Given the description of an element on the screen output the (x, y) to click on. 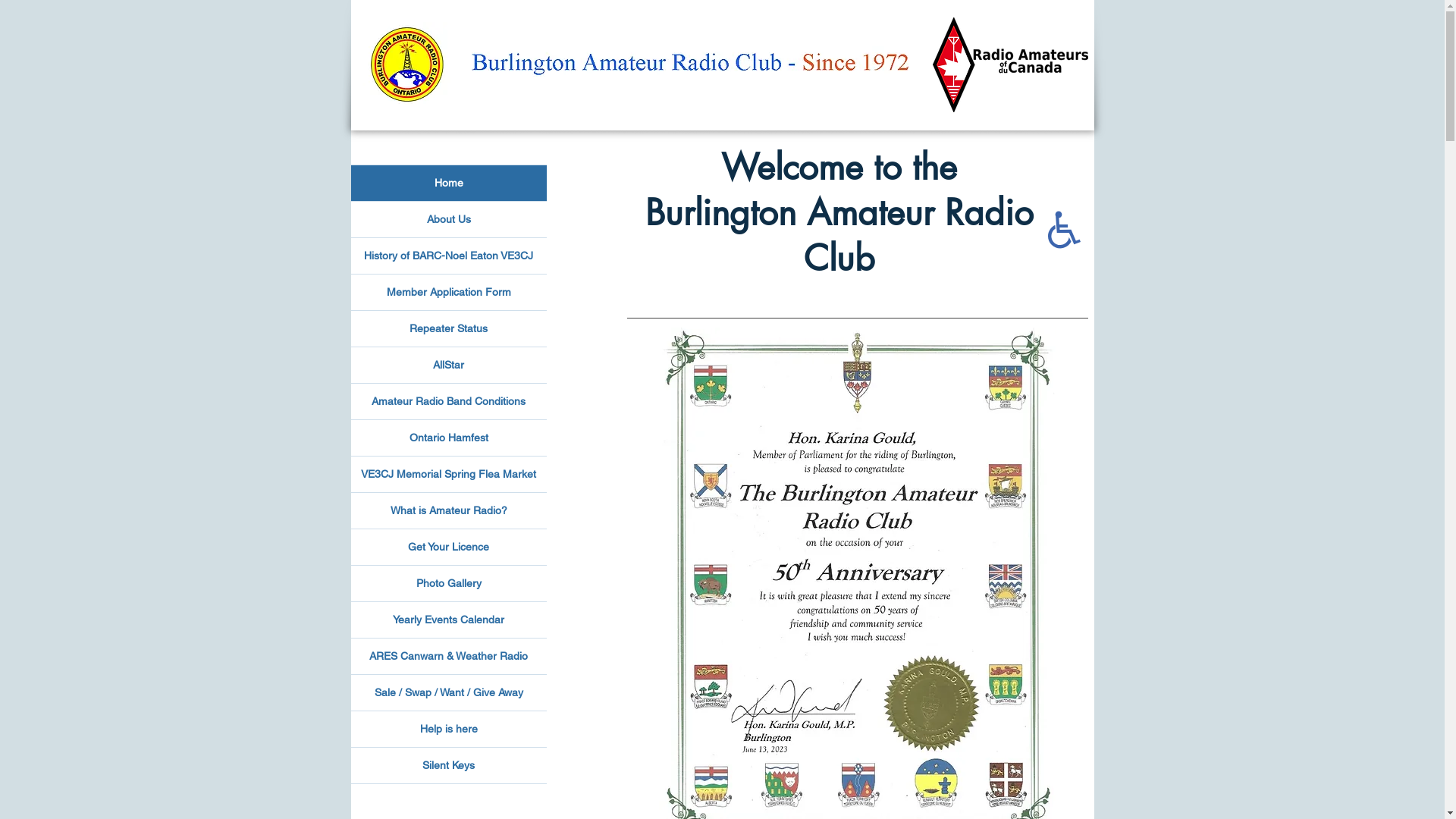
Home Element type: text (448, 182)
ARES Canwarn & Weather Radio Element type: text (448, 656)
Amateur Radio Band Conditions Element type: text (448, 401)
Repeater Status Element type: text (448, 328)
Silent Keys Element type: text (448, 765)
About Us Element type: text (448, 219)
AllStar Element type: text (448, 364)
rac_long.png Element type: hover (1010, 64)
VE3CJ Memorial Spring Flea Market Element type: text (448, 474)
History of BARC-Noel Eaton VE3CJ Element type: text (448, 255)
Ontario Hamfest Element type: text (448, 437)
Site Search Element type: hover (454, 152)
Sale / Swap / Want / Give Away Element type: text (448, 692)
Get Your Licence Element type: text (448, 546)
Member Application Form Element type: text (448, 292)
Help is here Element type: text (448, 728)
What is Amateur Radio? Element type: text (448, 510)
Yearly Events Calendar Element type: text (448, 619)
barc title.jpg Element type: hover (717, 64)
Photo Gallery Element type: text (448, 583)
